Given the description of an element on the screen output the (x, y) to click on. 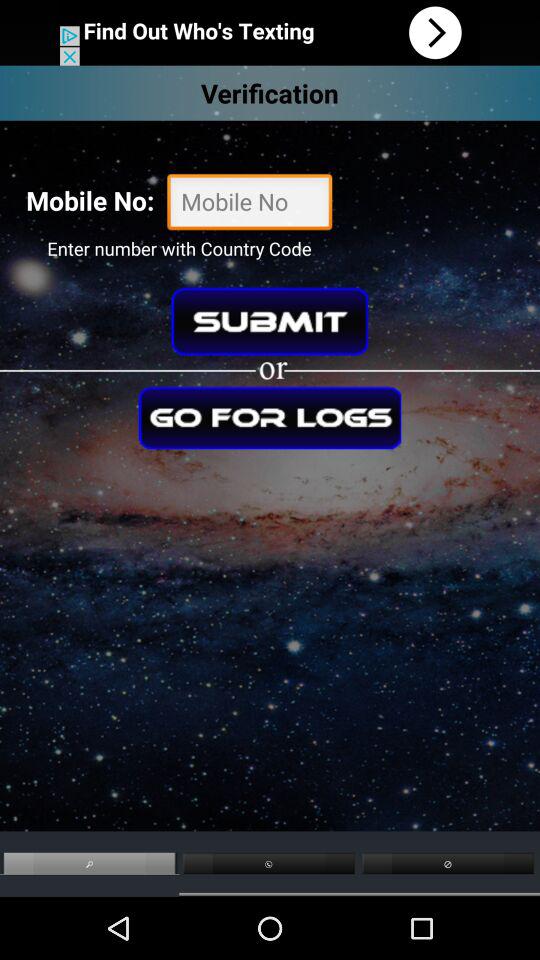
input number (249, 204)
